Given the description of an element on the screen output the (x, y) to click on. 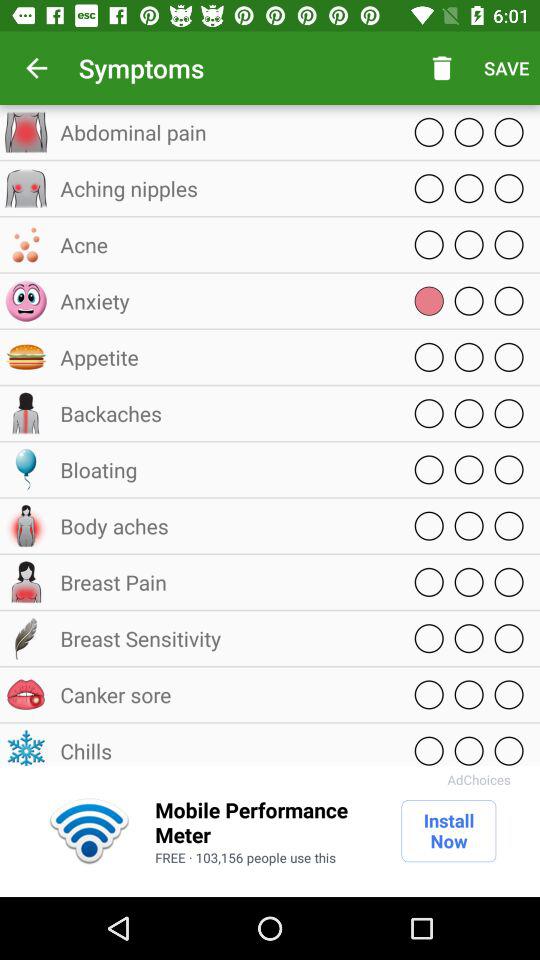
launch breast pain item (225, 582)
